Given the description of an element on the screen output the (x, y) to click on. 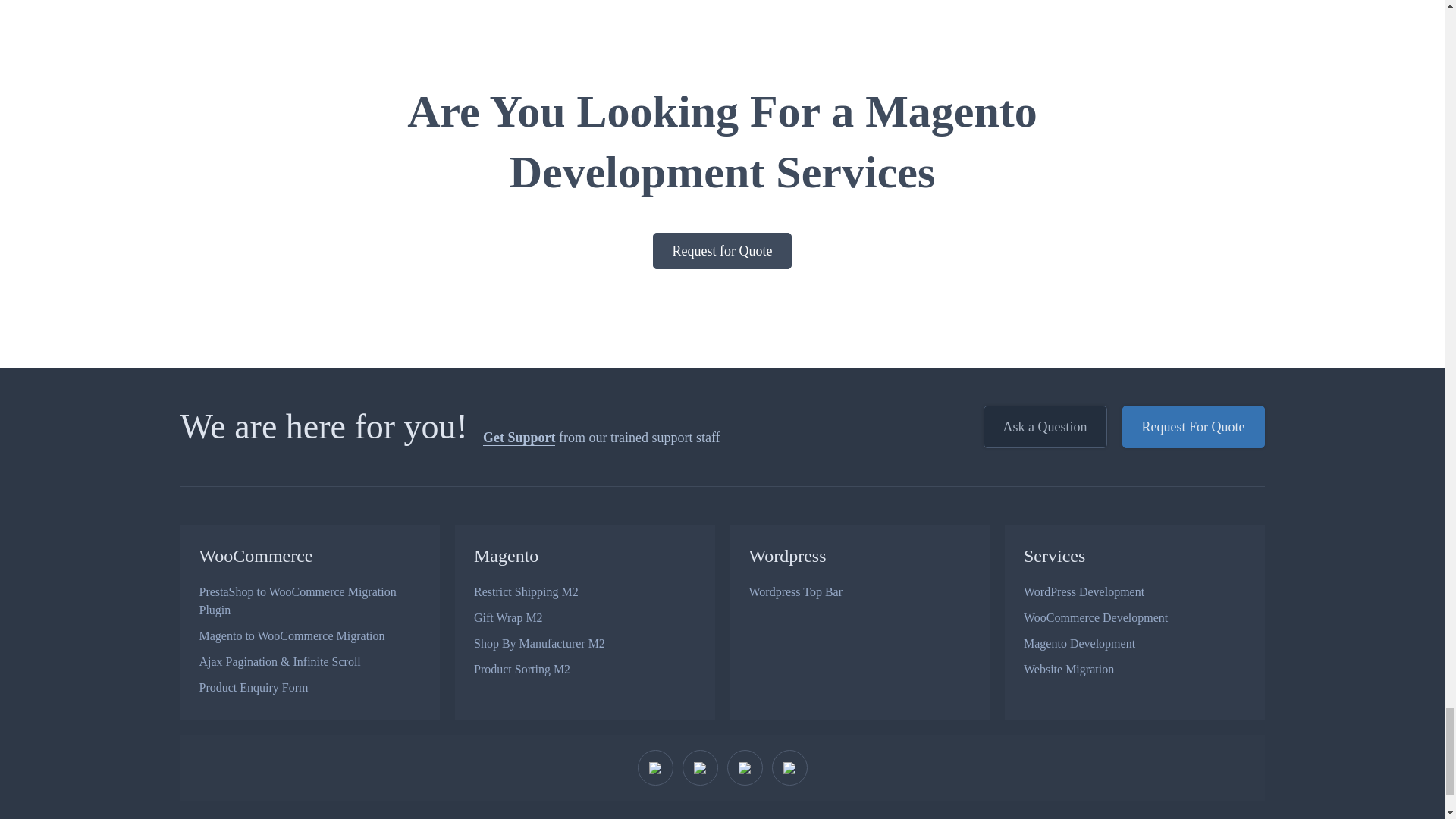
Restrict Shipping M2 (584, 592)
Magento to WooCommerce Migration (309, 636)
Ask a Question (1045, 426)
WordPress Development (1134, 592)
Wordpress Top Bar (860, 592)
Website Migration (1134, 669)
Shop By Manufacturer M2 (584, 643)
Magento Development (1134, 643)
Request for Quote (722, 250)
Get Support (519, 437)
